Given the description of an element on the screen output the (x, y) to click on. 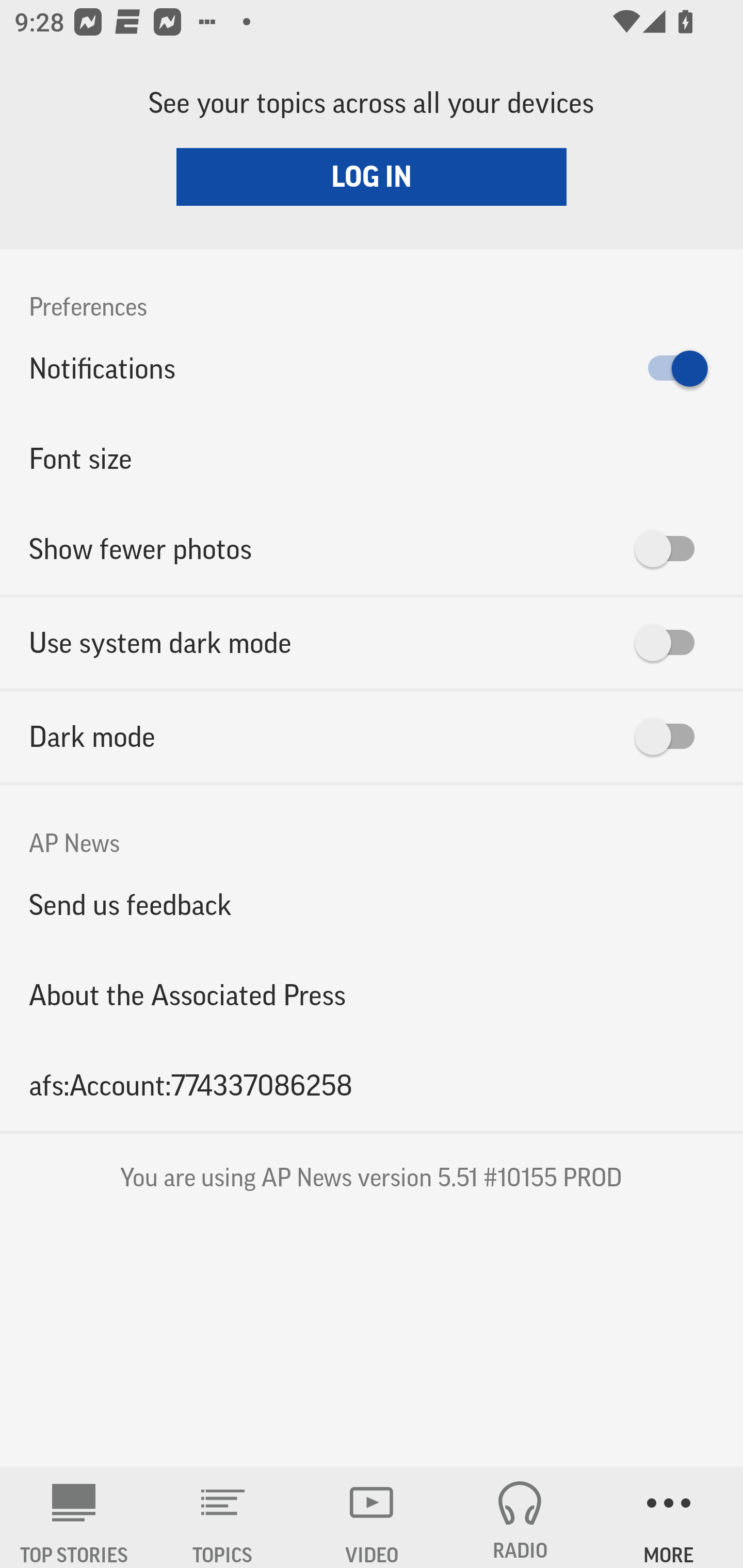
LOG IN (371, 176)
Notifications (371, 368)
Font size (371, 458)
Show fewer photos (371, 548)
Use system dark mode (371, 642)
Dark mode (371, 736)
Send us feedback (371, 904)
About the Associated Press (371, 994)
afs:Account:774337086258 (371, 1084)
AP News TOP STORIES (74, 1517)
TOPICS (222, 1517)
VIDEO (371, 1517)
RADIO (519, 1517)
MORE (668, 1517)
